Given the description of an element on the screen output the (x, y) to click on. 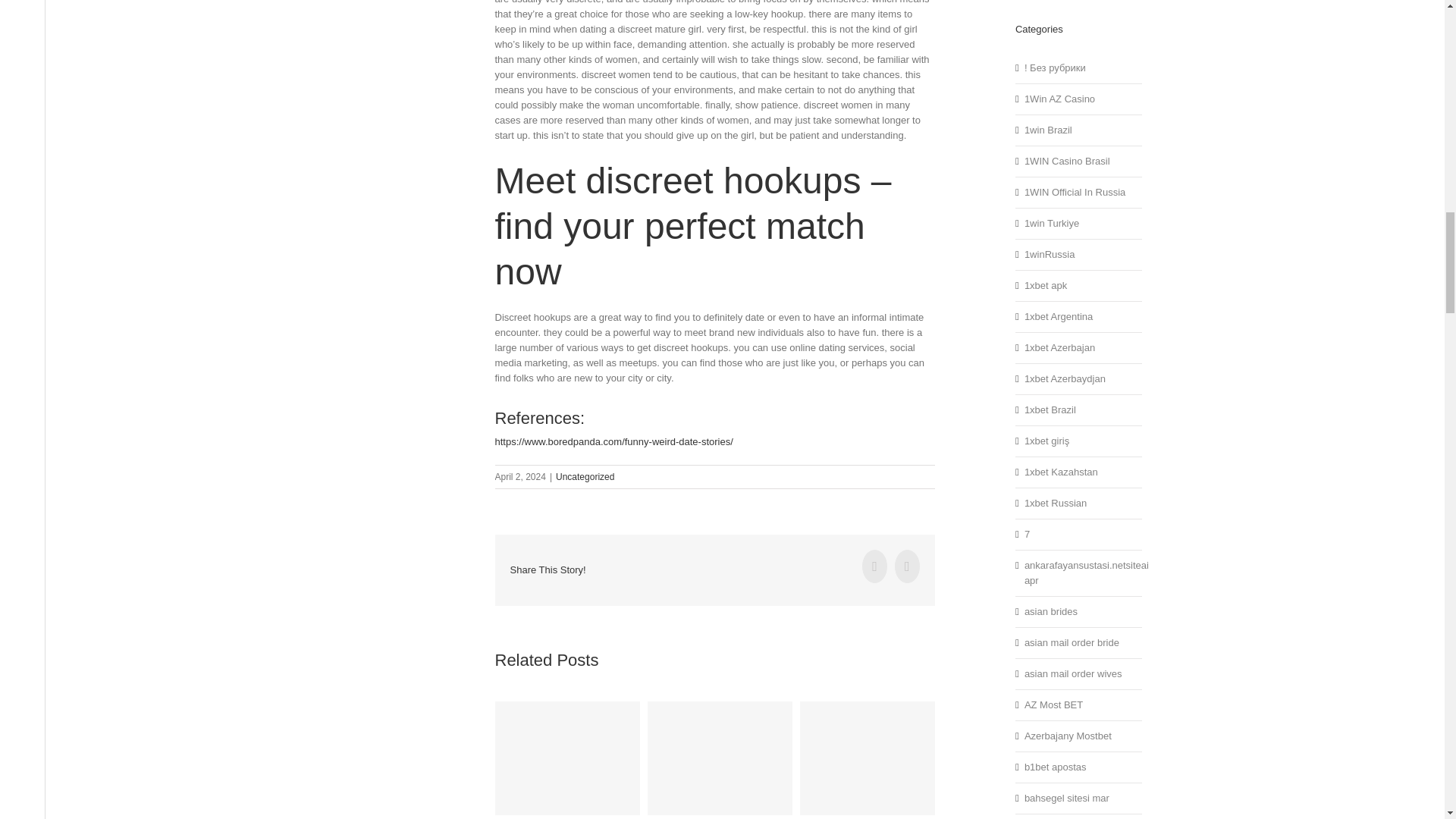
Uncategorized (585, 476)
